Given the description of an element on the screen output the (x, y) to click on. 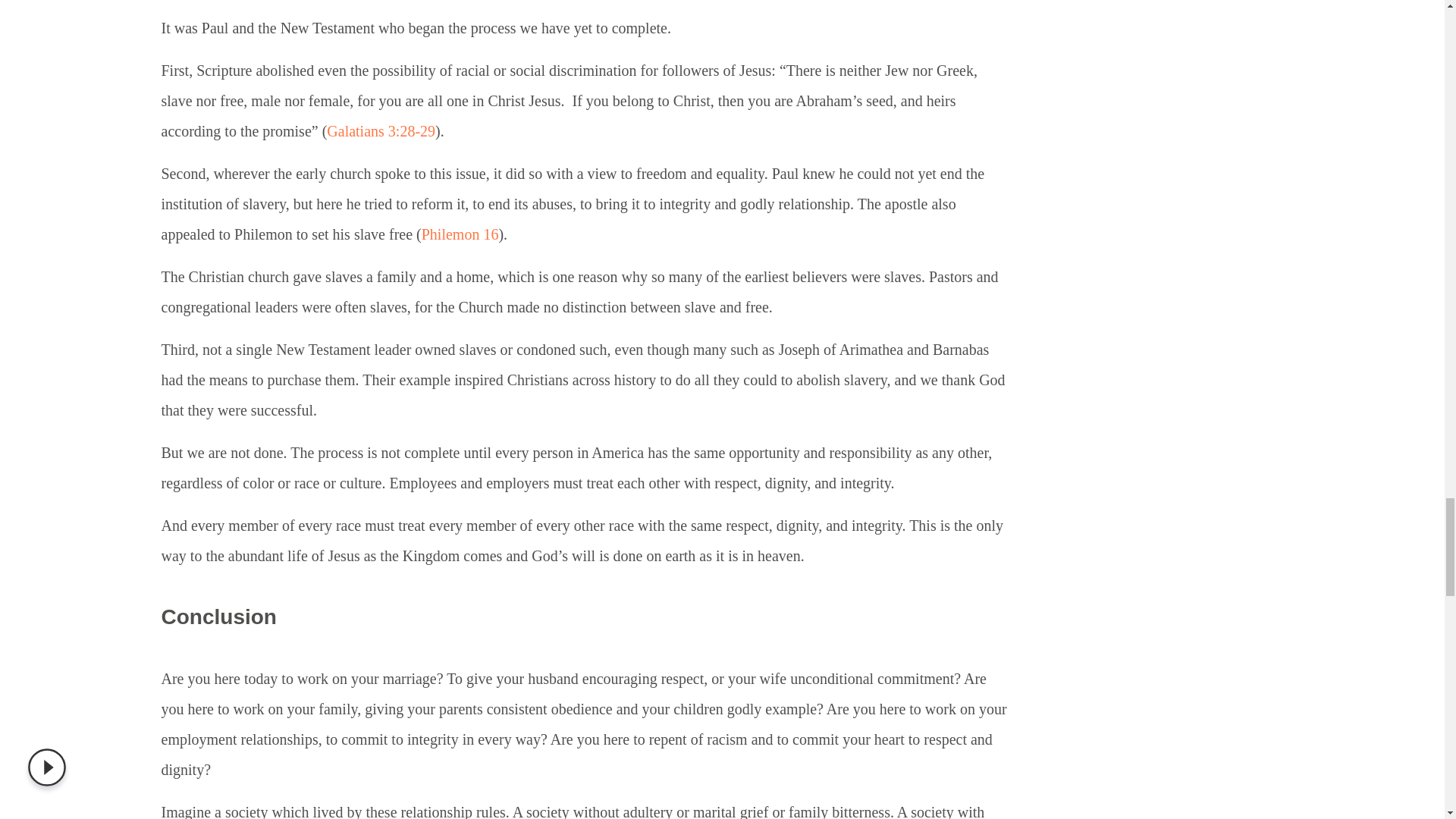
Philemon 16 (460, 234)
Galatians 3:28-29 (380, 130)
